Given the description of an element on the screen output the (x, y) to click on. 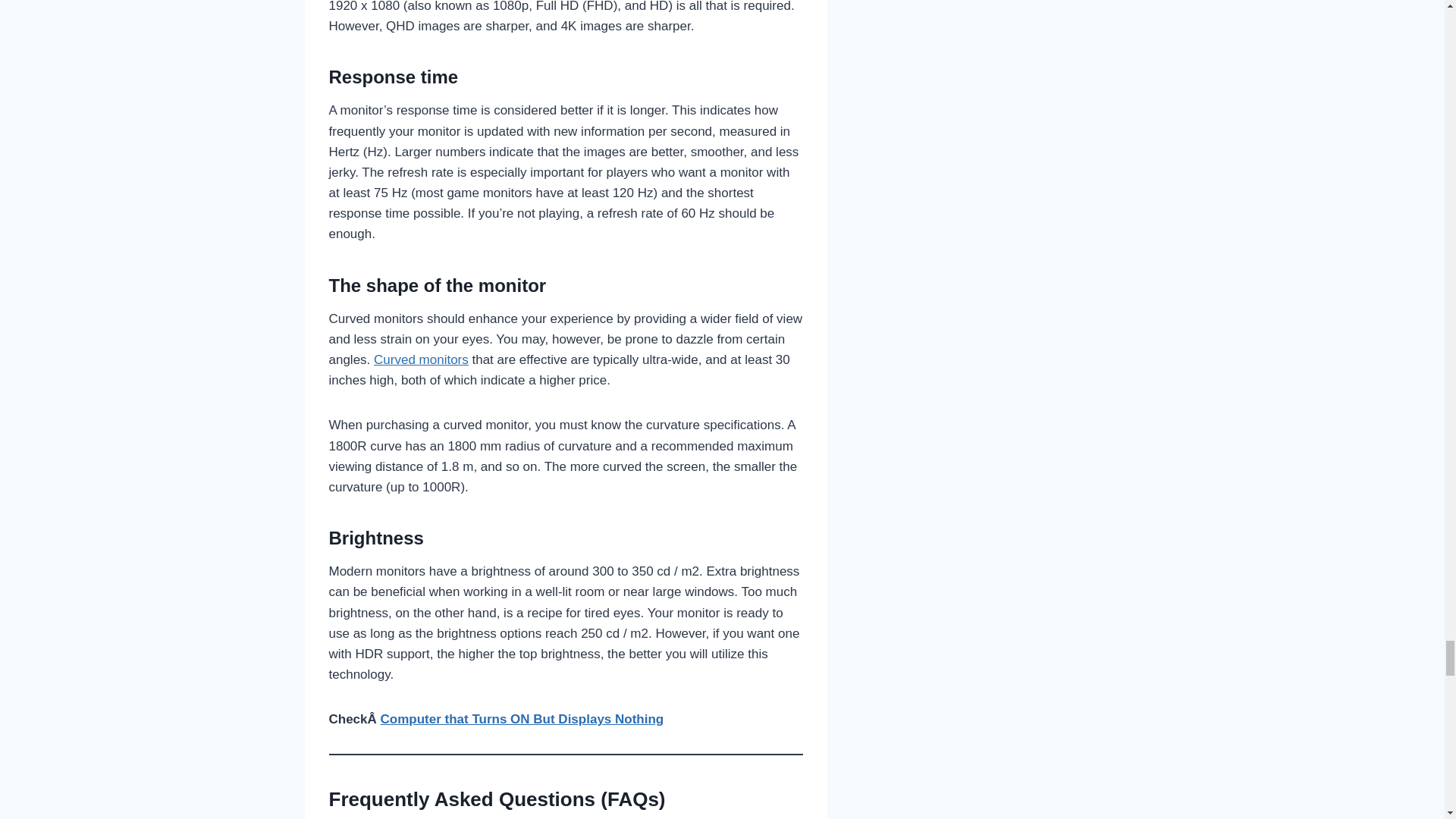
Curved monitors (421, 359)
